Given the description of an element on the screen output the (x, y) to click on. 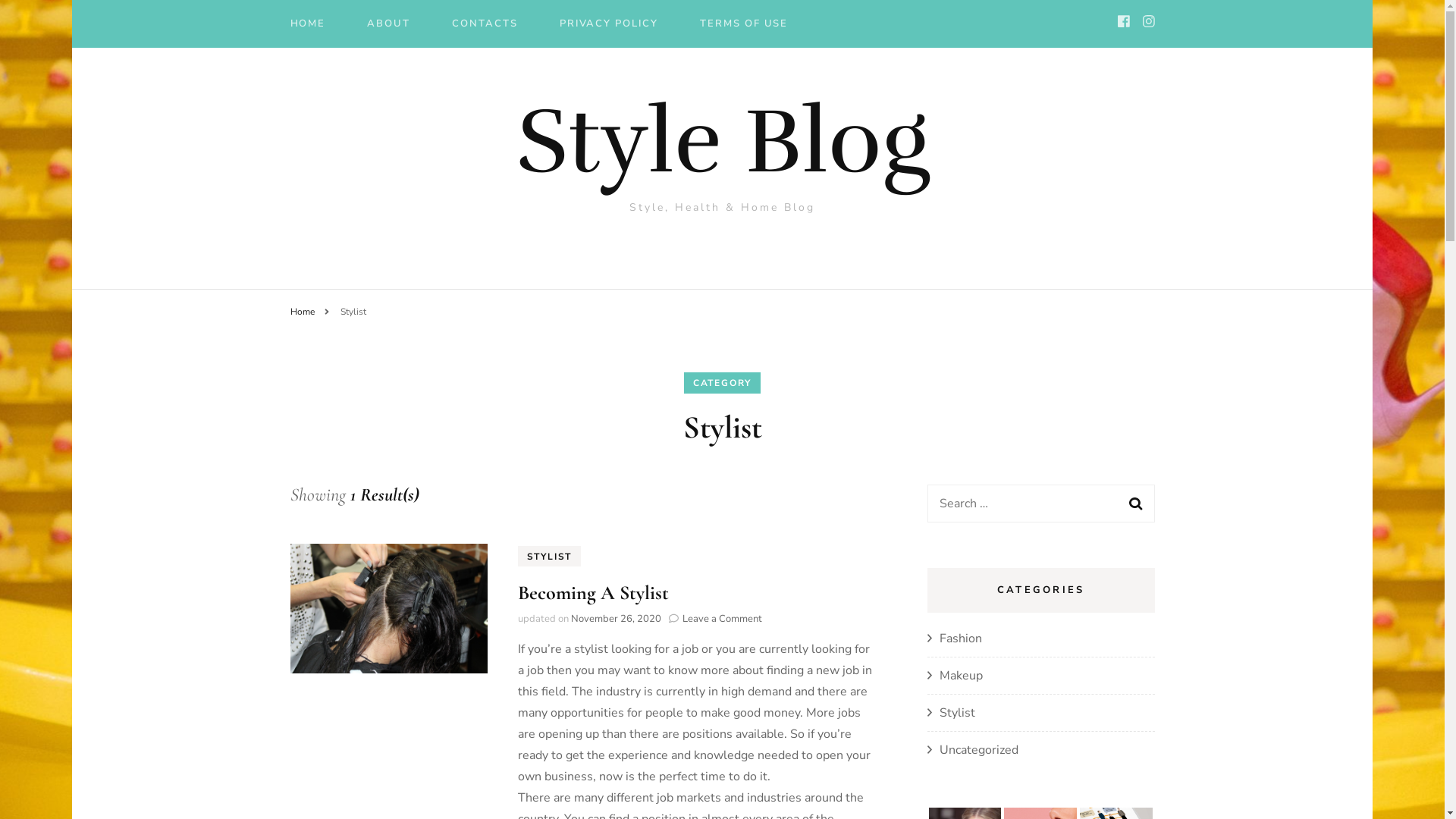
HOME Element type: text (307, 25)
PRIVACY POLICY Element type: text (608, 25)
Fashion Element type: text (959, 638)
Home Element type: text (301, 311)
Stylist Element type: text (352, 311)
Makeup Element type: text (960, 675)
TERMS OF USE Element type: text (743, 25)
Style Blog Element type: text (721, 141)
November 26, 2020 Element type: text (615, 618)
Leave a Comment
on Becoming A Stylist Element type: text (722, 618)
STYLIST Element type: text (548, 556)
CONTACTS Element type: text (484, 25)
Stylist Element type: text (956, 712)
Search Element type: text (1135, 503)
Uncategorized Element type: text (977, 749)
Becoming A Stylist Element type: text (592, 592)
ABOUT Element type: text (388, 25)
